Given the description of an element on the screen output the (x, y) to click on. 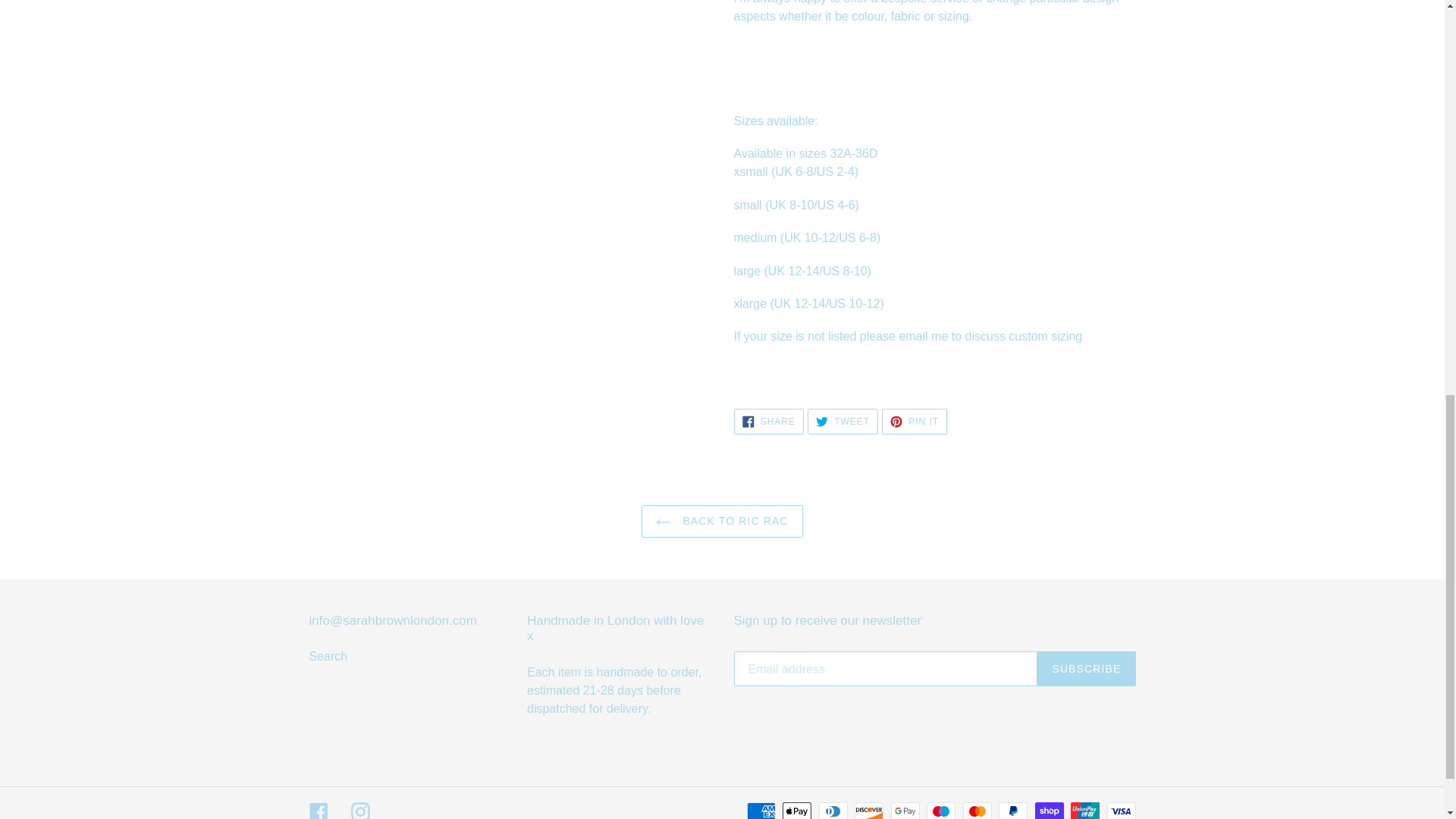
Facebook (318, 810)
BACK TO RIC RAC (842, 421)
Search (722, 521)
SUBSCRIBE (327, 656)
Instagram (768, 421)
